Given the description of an element on the screen output the (x, y) to click on. 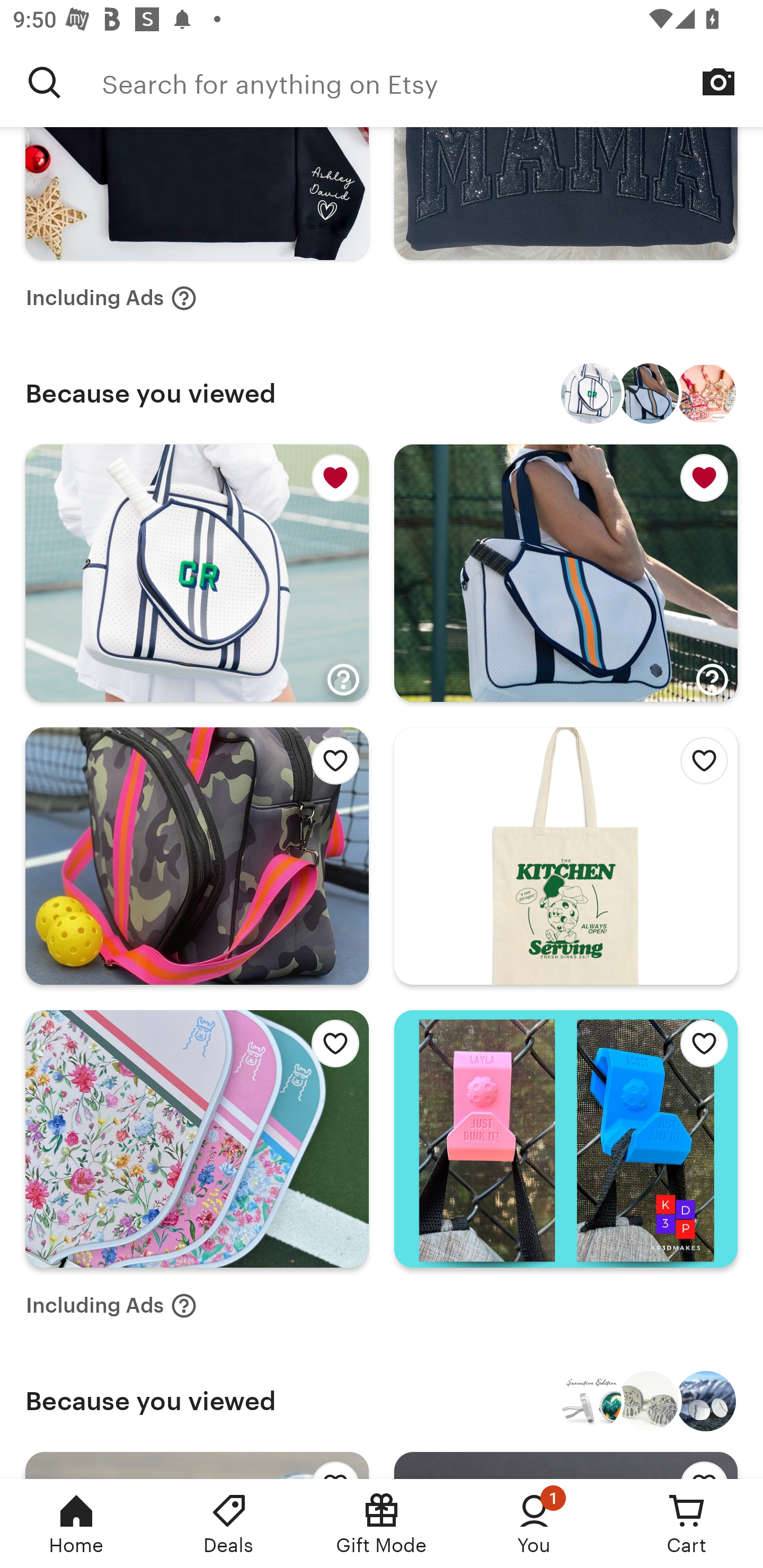
Search for anything on Etsy (44, 82)
Search by image (718, 81)
Search for anything on Etsy (432, 82)
Including Ads (111, 298)
Striped Monogram Pickleball/Tennis Bag (591, 393)
Add Flower Preppy Pickleball Paddle to favorites (330, 1047)
Including Ads (111, 1304)
Deals (228, 1523)
Gift Mode (381, 1523)
You, 1 new notification You (533, 1523)
Cart (686, 1523)
